Given the description of an element on the screen output the (x, y) to click on. 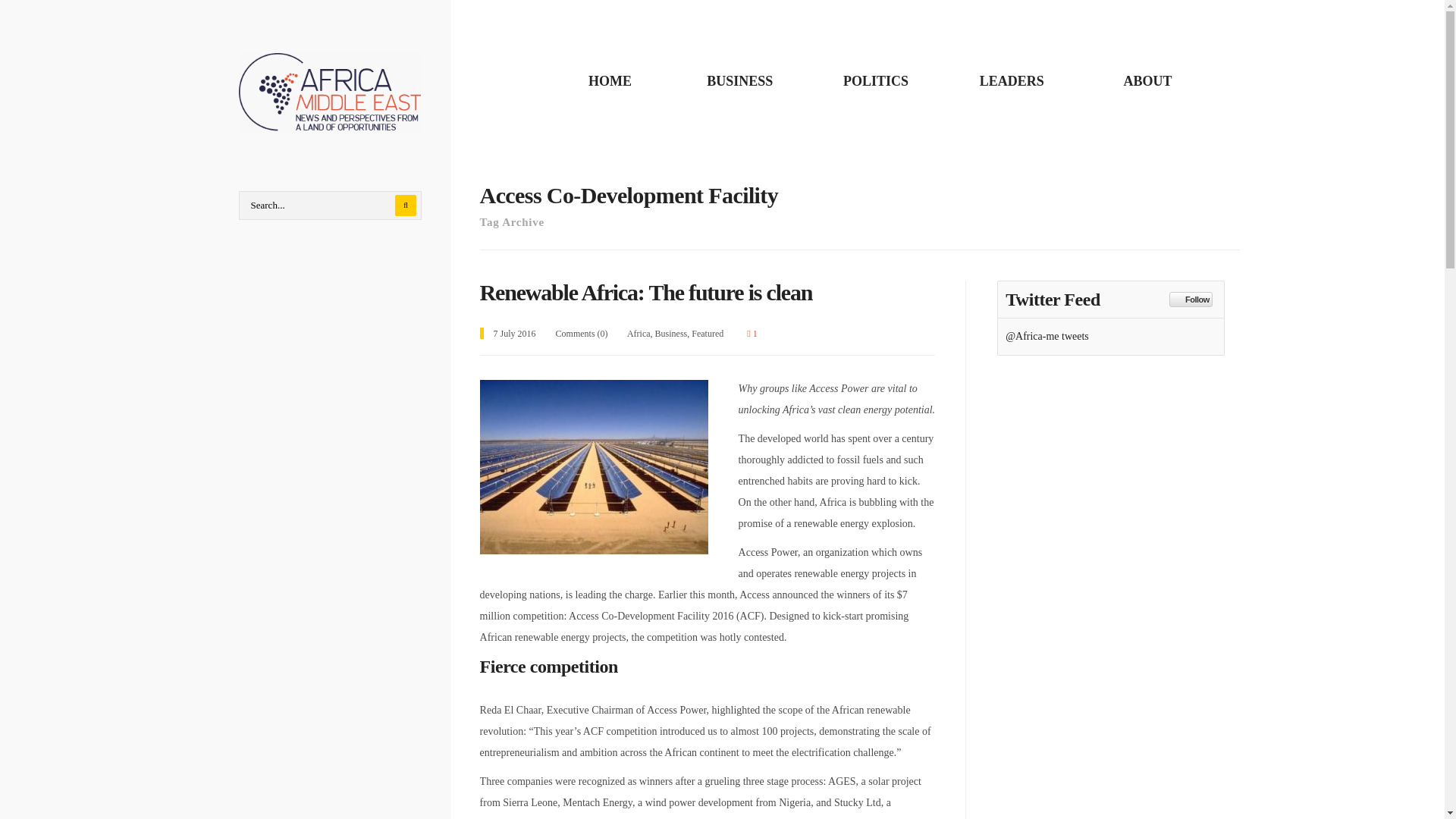
Business (671, 333)
Featured (707, 333)
Follow (1190, 299)
BUSINESS (739, 80)
ABOUT (1147, 80)
Africa (638, 333)
Like (751, 333)
LEADERS (1011, 80)
Search... (330, 205)
POLITICS (875, 80)
